Given the description of an element on the screen output the (x, y) to click on. 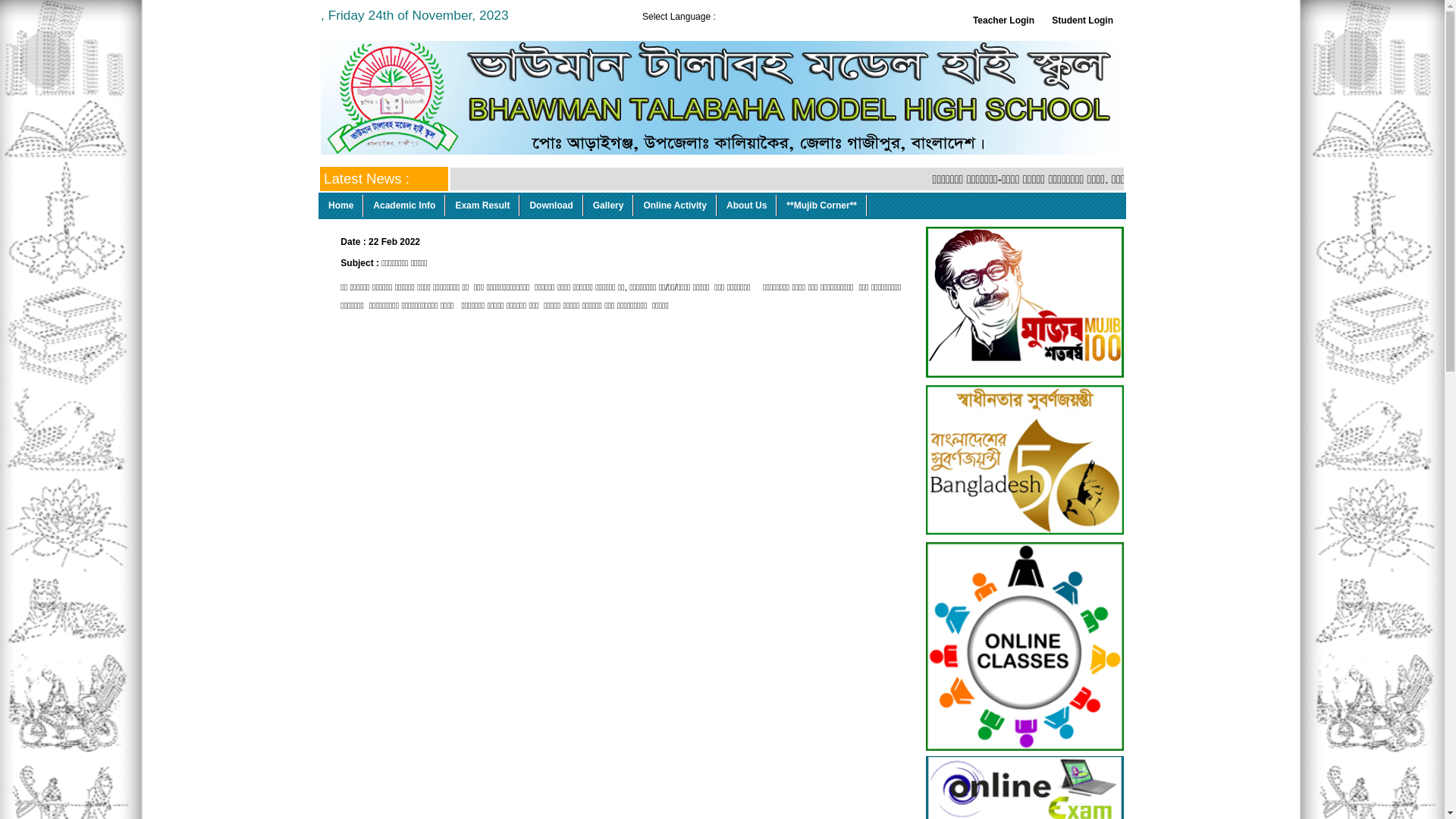
**Mujib Corner** Element type: text (821, 205)
About Us Element type: text (746, 205)
Student Login Element type: text (1082, 20)
Gallery Element type: text (608, 205)
Download Element type: text (551, 205)
Exam Result Element type: text (482, 205)
Home Element type: text (341, 205)
Online Activity Element type: text (674, 205)
Academic Info Element type: text (404, 205)
Teacher Login Element type: text (1003, 20)
